Given the description of an element on the screen output the (x, y) to click on. 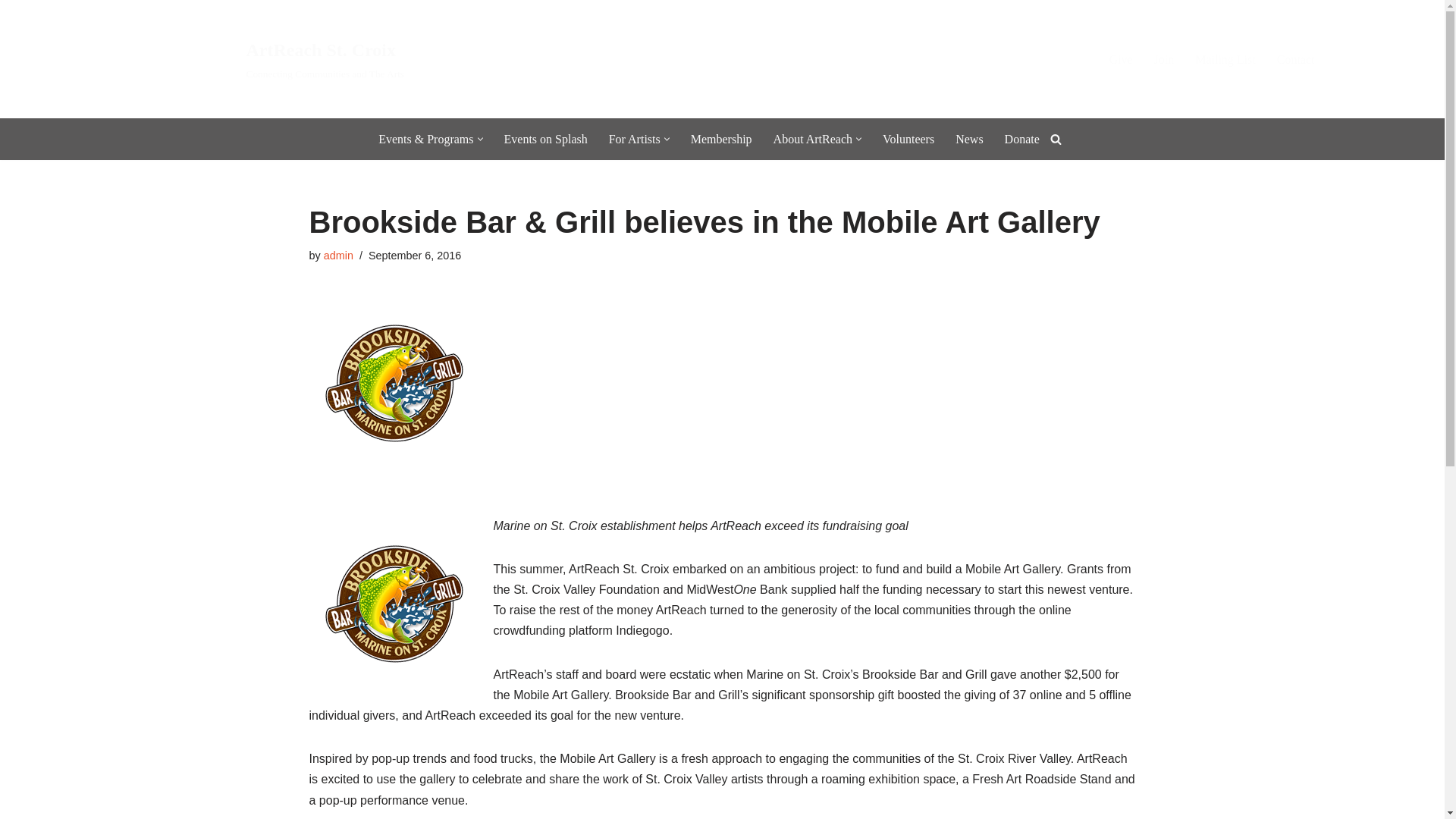
Membership (721, 138)
Give (1120, 59)
For Artists (634, 138)
Contact (1295, 59)
Donate (1021, 138)
Events on Splash (275, 58)
Posts by admin (544, 138)
About ArtReach (338, 255)
Skip to content (812, 138)
